Given the description of an element on the screen output the (x, y) to click on. 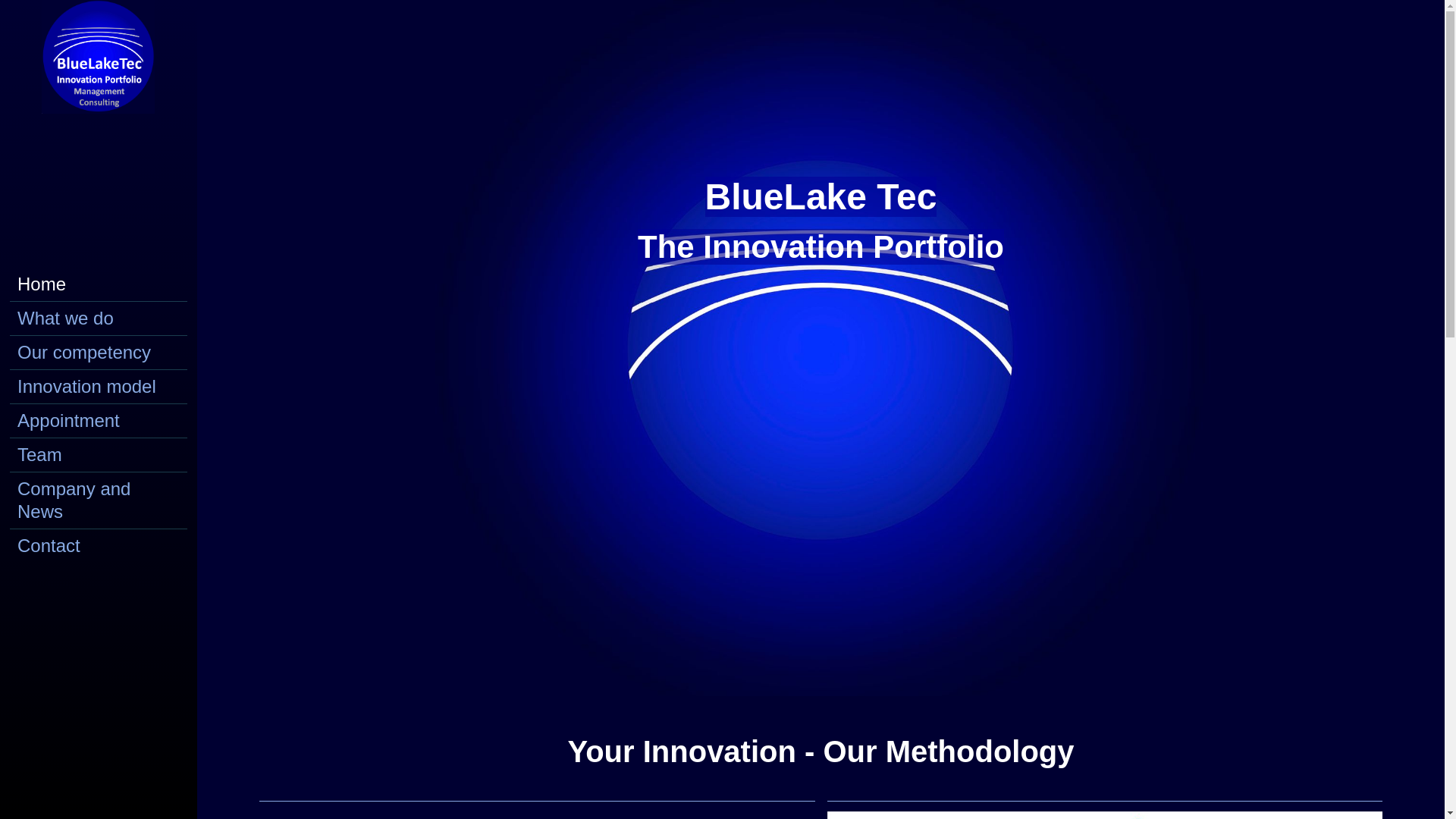
Home (98, 283)
Home (98, 283)
Company and News (98, 499)
Contact (98, 545)
What we do (98, 318)
What we do (98, 318)
Innovation model (98, 386)
Appointment (98, 419)
Team (98, 454)
Innovation model (98, 386)
Contact (98, 545)
Our competency (98, 351)
Appointment (98, 419)
Our competency (98, 351)
Team (98, 454)
